Given the description of an element on the screen output the (x, y) to click on. 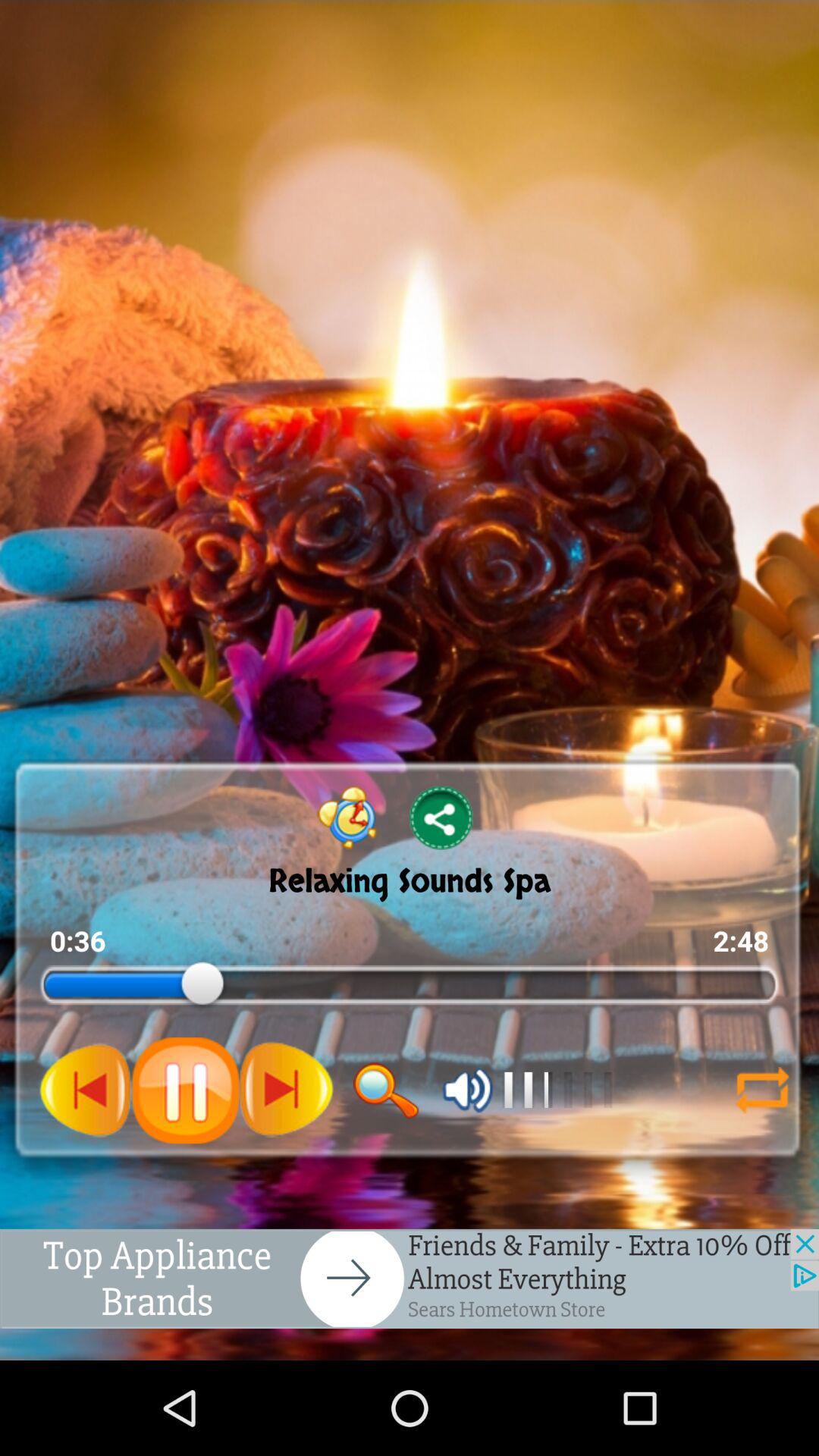
open advertisement (409, 1278)
